Given the description of an element on the screen output the (x, y) to click on. 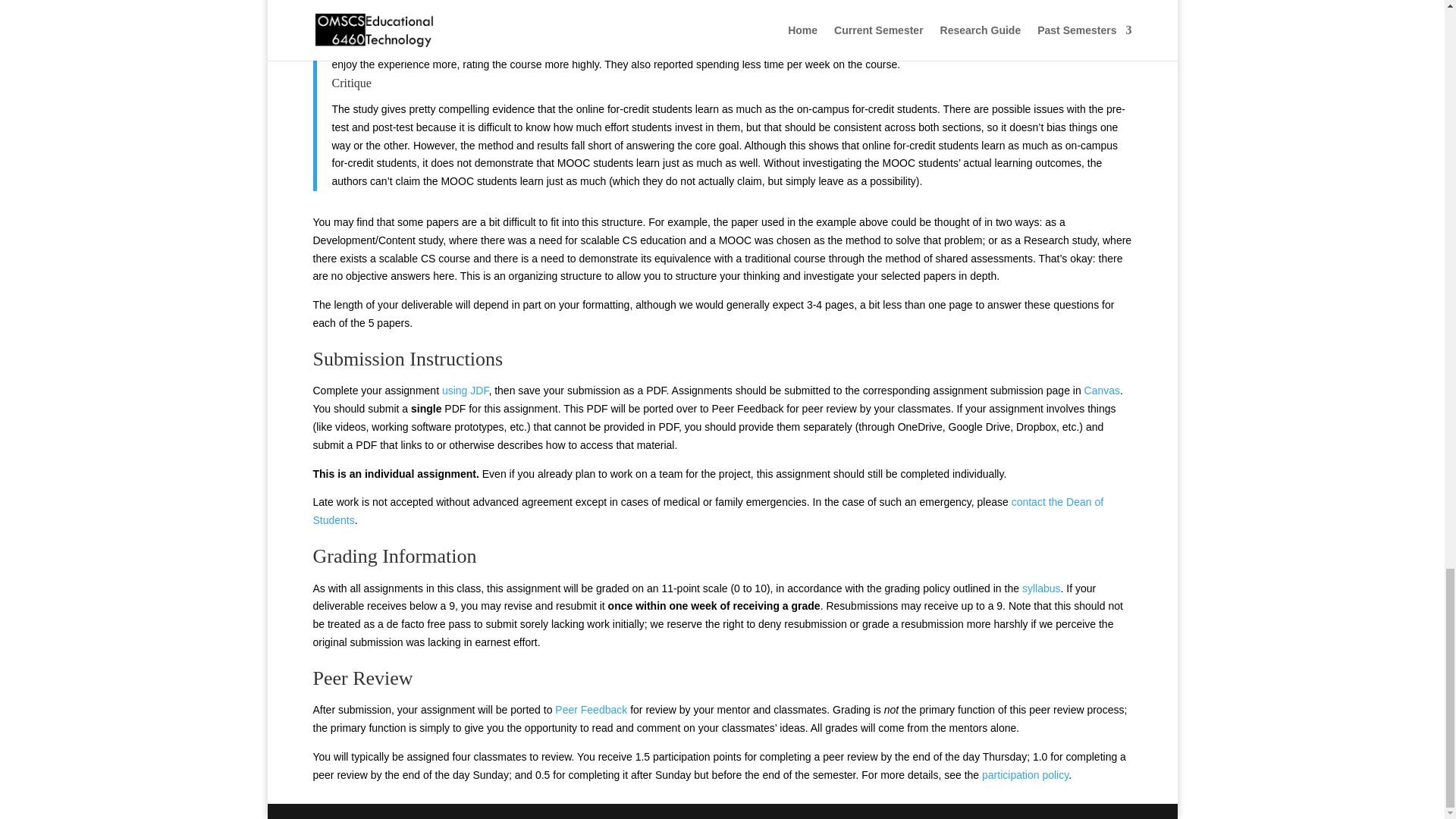
using JDF (464, 390)
